Given the description of an element on the screen output the (x, y) to click on. 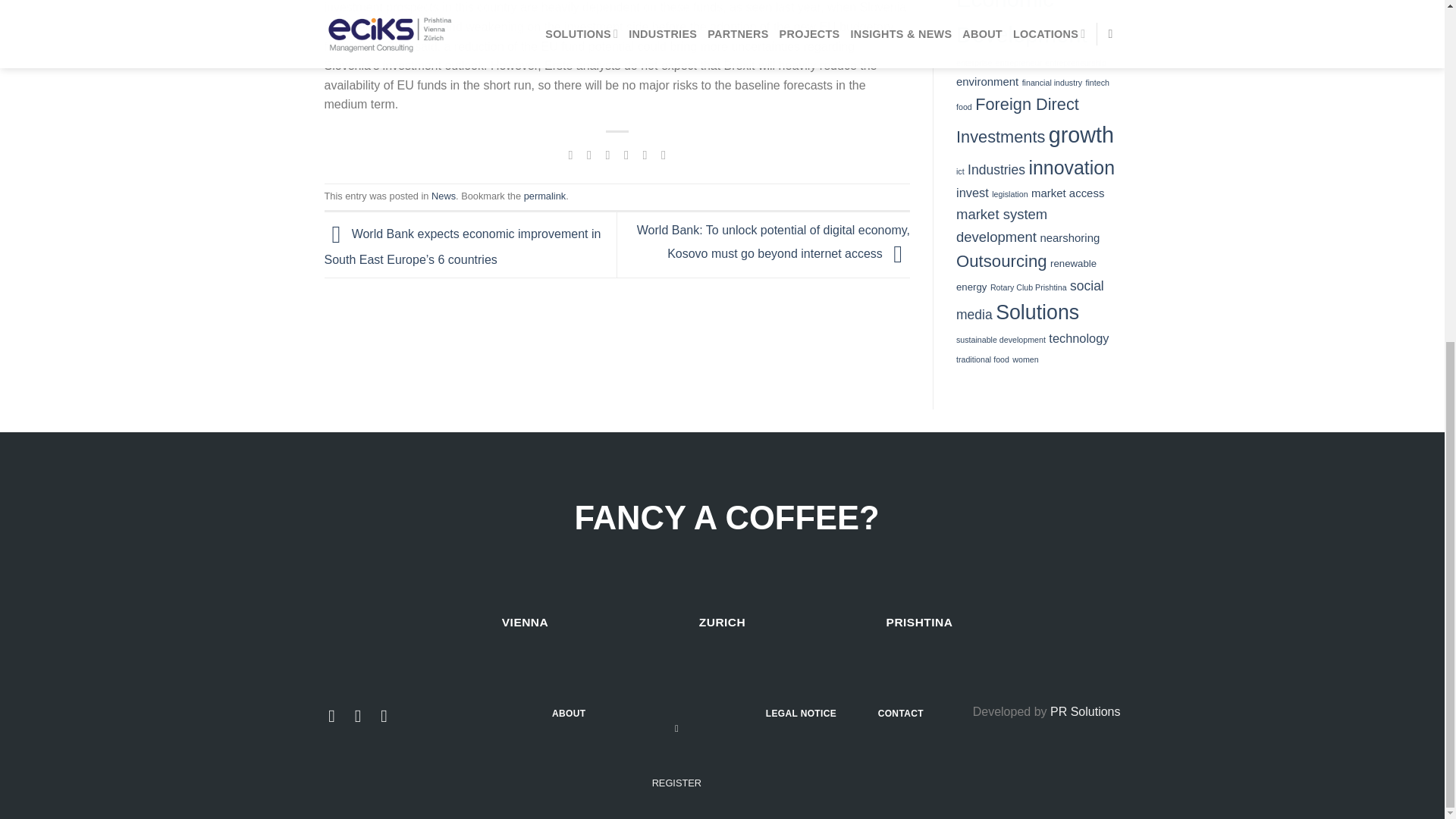
News (442, 195)
